Given the description of an element on the screen output the (x, y) to click on. 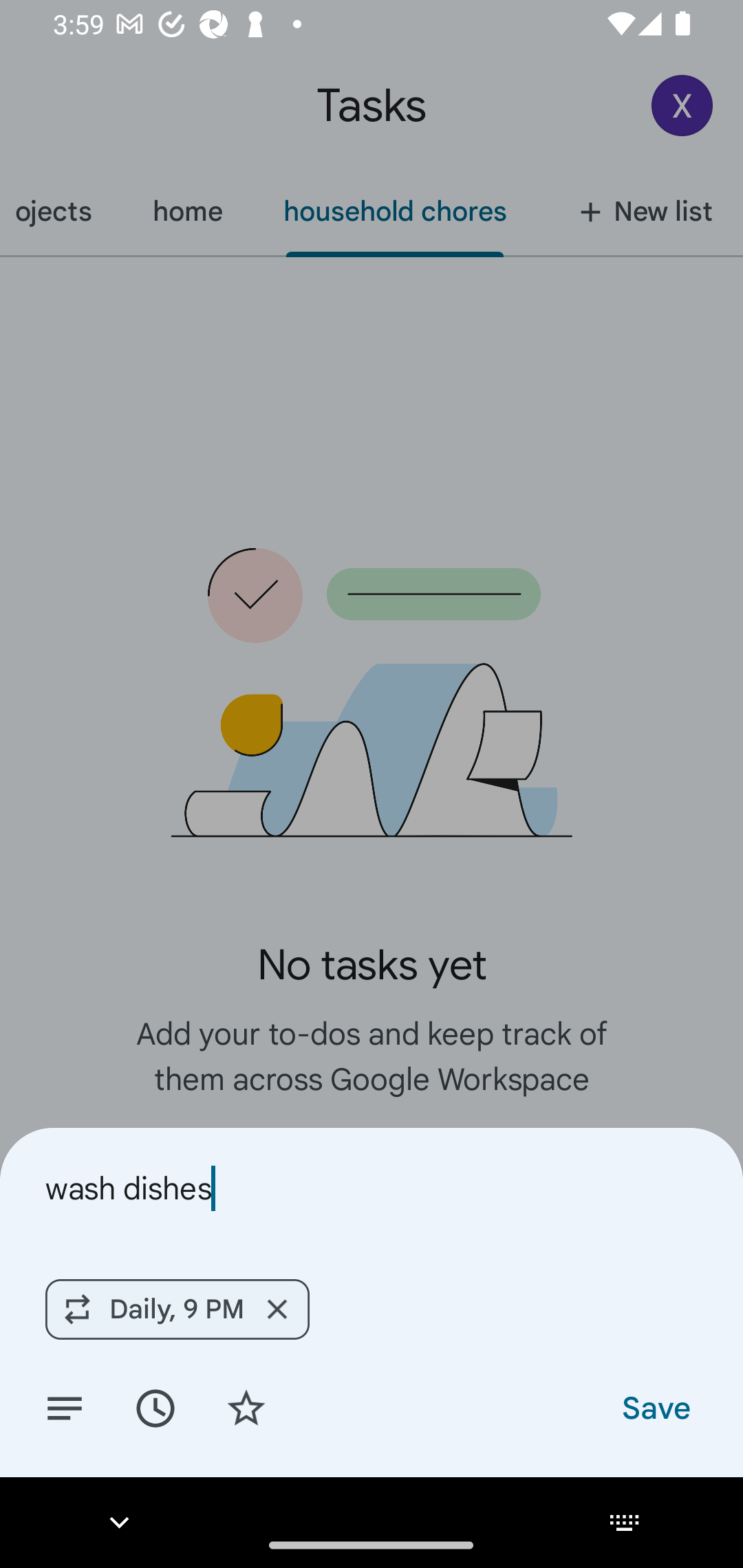
wash dishes (371, 1188)
Daily, 9 PM Remove Daily, 9 PM (177, 1308)
Save (655, 1407)
Add details (64, 1407)
Set date/time (154, 1407)
Add star (245, 1407)
